Given the description of an element on the screen output the (x, y) to click on. 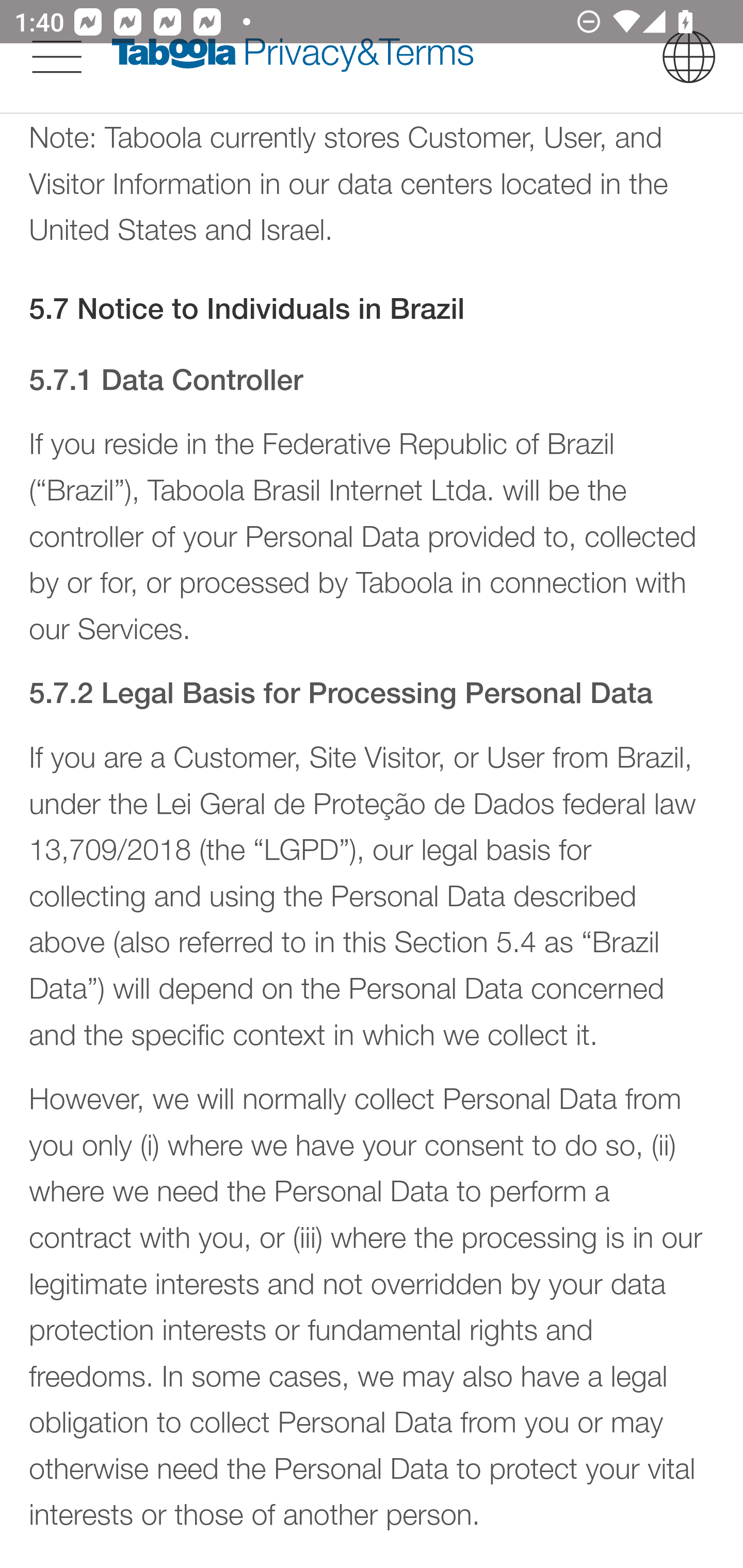
Taboola Privacy & Terms Logo (292, 56)
English (688, 56)
